Given the description of an element on the screen output the (x, y) to click on. 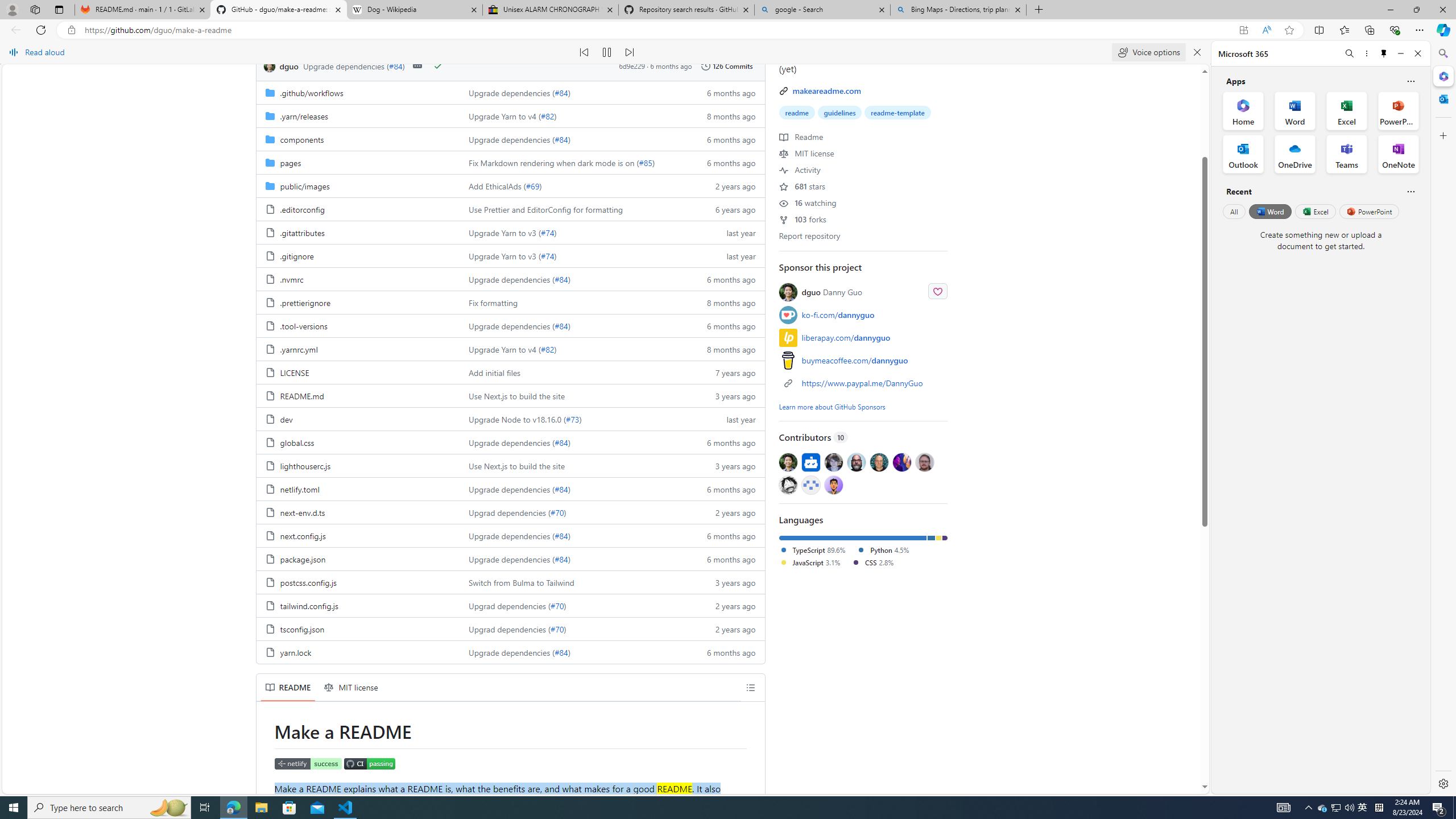
Outlook (1442, 98)
7 years ago (725, 372)
Upgrade Yarn to v3 (#74) (573, 255)
commits by dguo (288, 65)
.gitattributes, (File) (301, 232)
6 months ago (725, 651)
Unpin side pane (1383, 53)
lighthouserc.js, (File) (358, 465)
@davidak (833, 461)
Fix Markdown rendering when dark mode is on ( (553, 162)
Read next paragraph (628, 52)
Upgrade Yarn to v4 ( (504, 348)
@coderberry (856, 461)
